Given the description of an element on the screen output the (x, y) to click on. 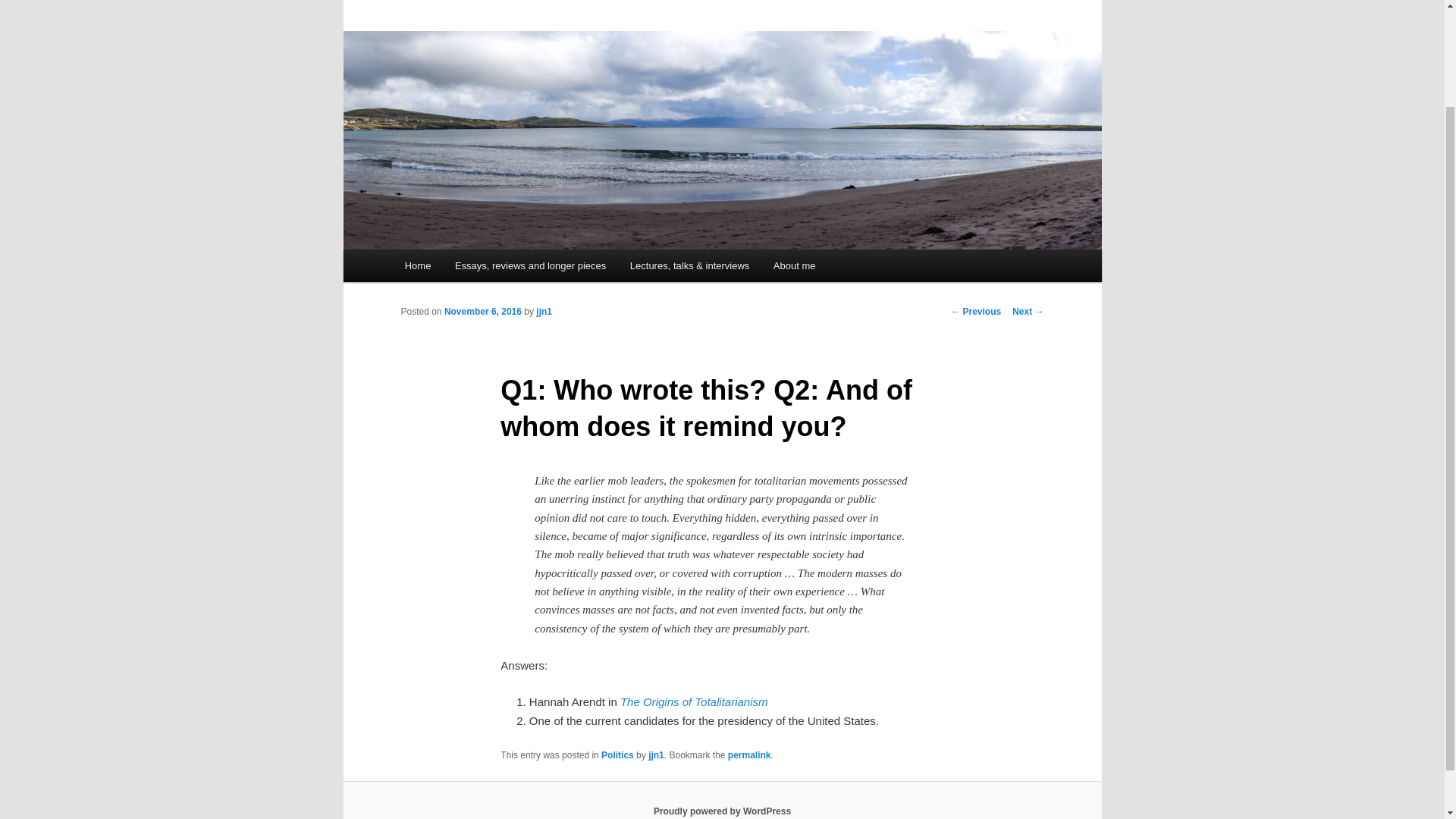
jjn1 (655, 755)
Home (417, 265)
About me (794, 265)
Politics (617, 755)
Semantic Personal Publishing Platform (721, 810)
permalink (749, 755)
Proudly powered by WordPress (721, 810)
The Origins of Totalitarianism (694, 701)
jjn1 (543, 311)
November 6, 2016 (482, 311)
Essays, reviews and longer pieces (529, 265)
